Given the description of an element on the screen output the (x, y) to click on. 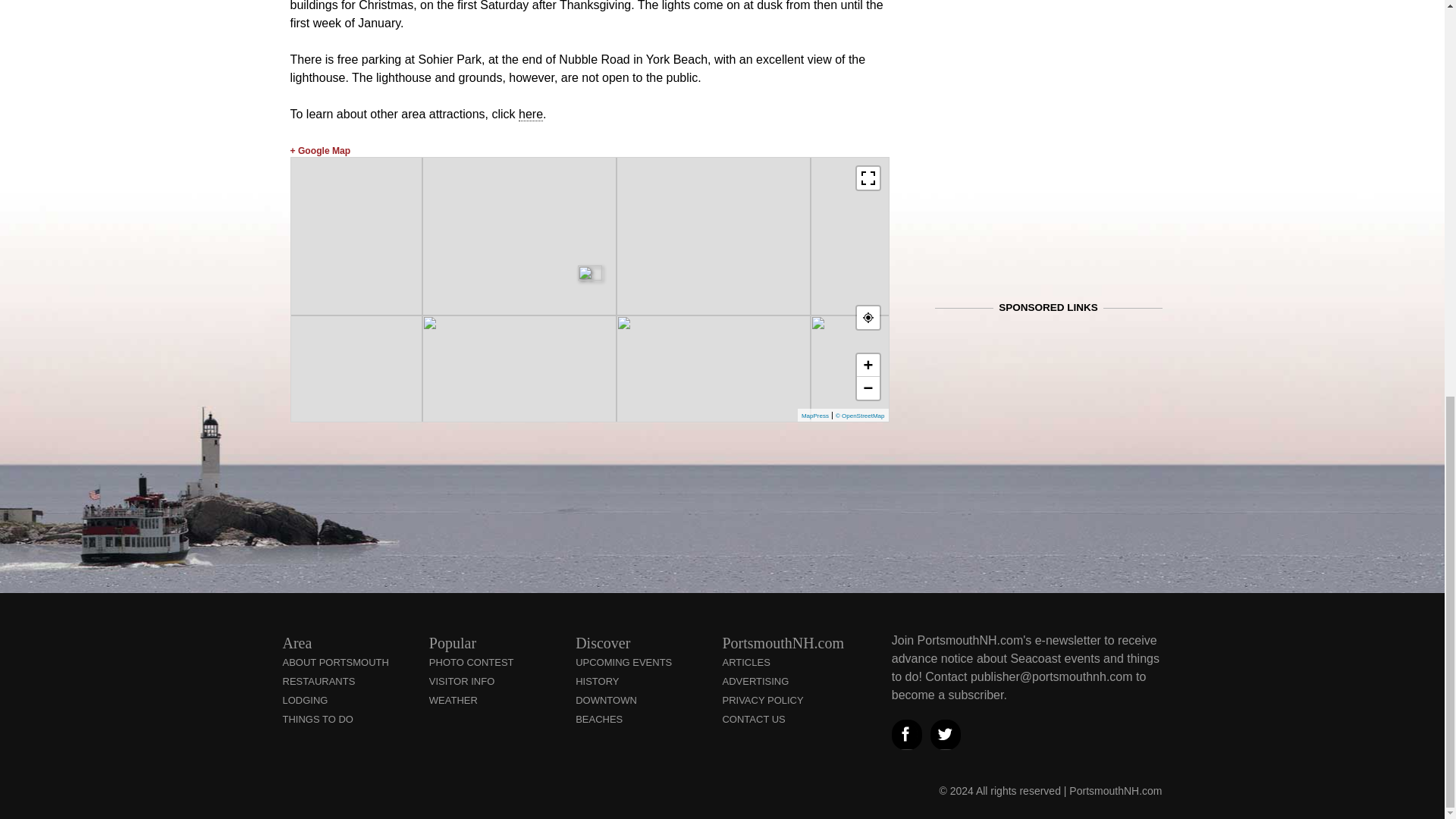
Click to view a Google Map (319, 150)
Your Location (868, 317)
Toggle fullscreen view (868, 177)
